Given the description of an element on the screen output the (x, y) to click on. 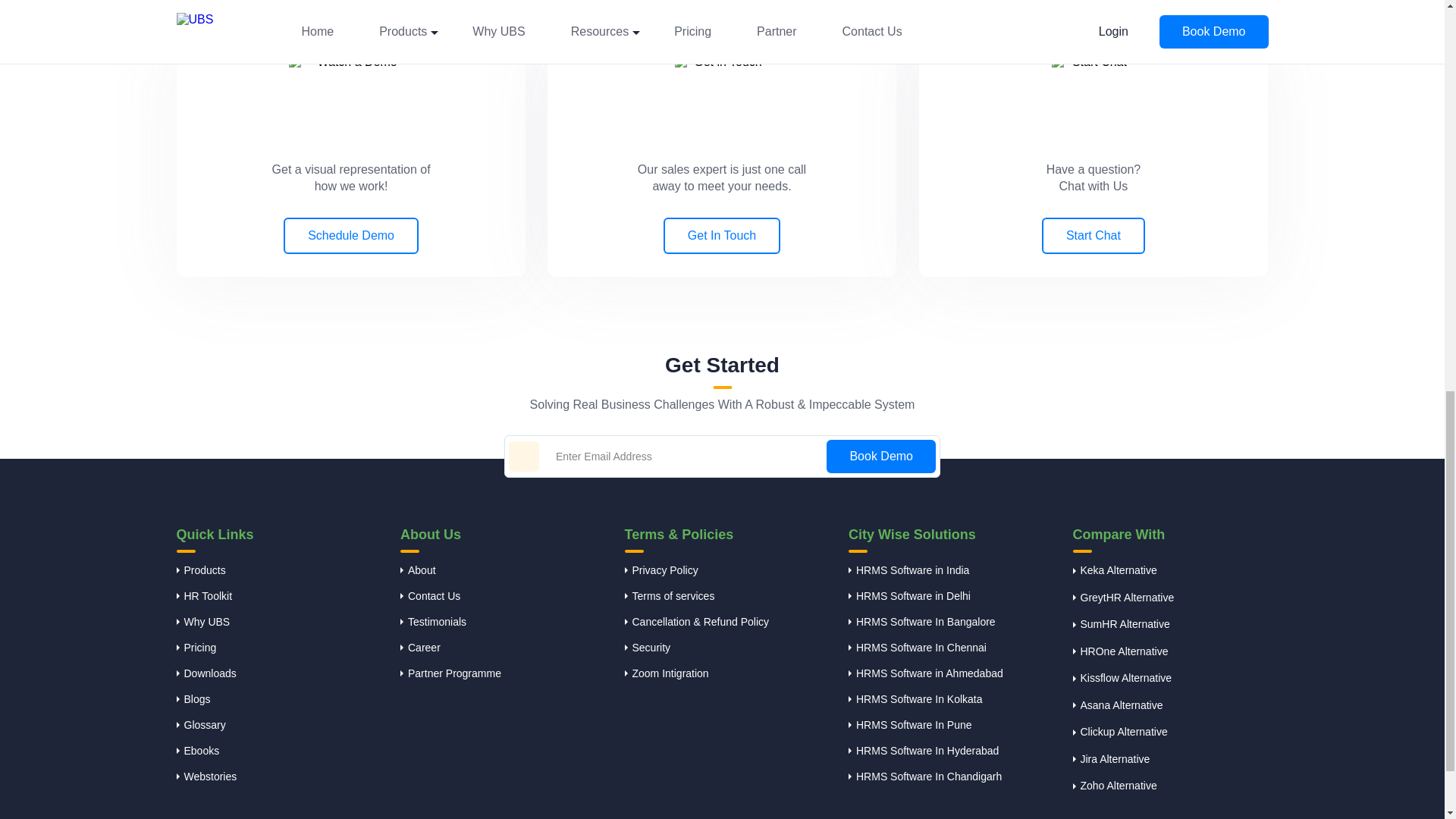
Start Chat (1093, 100)
Watch a Demo (350, 94)
Book Demo (881, 456)
Get in Touch (722, 96)
